Given the description of an element on the screen output the (x, y) to click on. 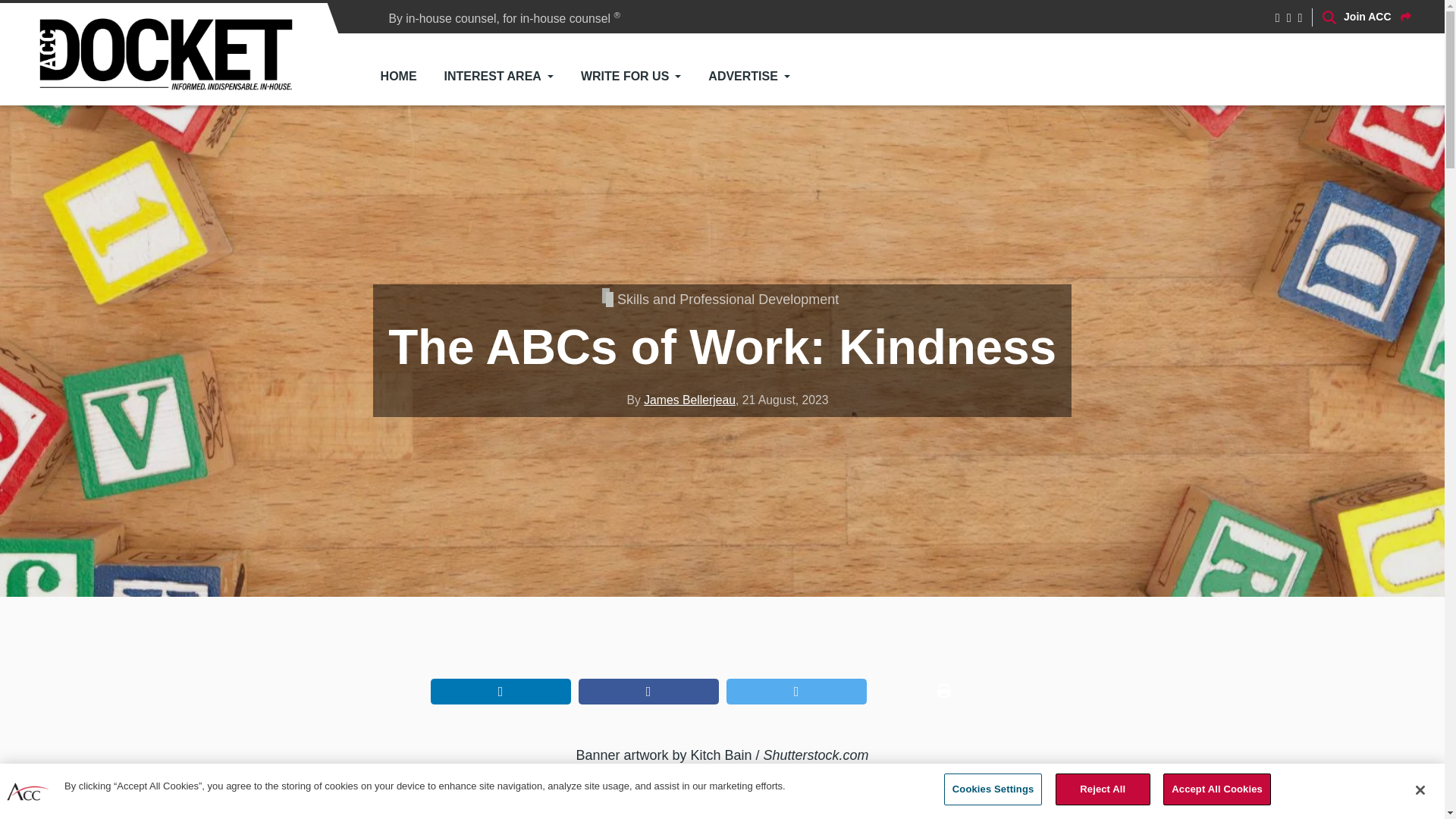
INTEREST AREA (498, 76)
Search (1138, 120)
Join ACC (1376, 16)
ADVERTISE (748, 76)
HOME (398, 76)
WRITE FOR US (630, 76)
